Given the description of an element on the screen output the (x, y) to click on. 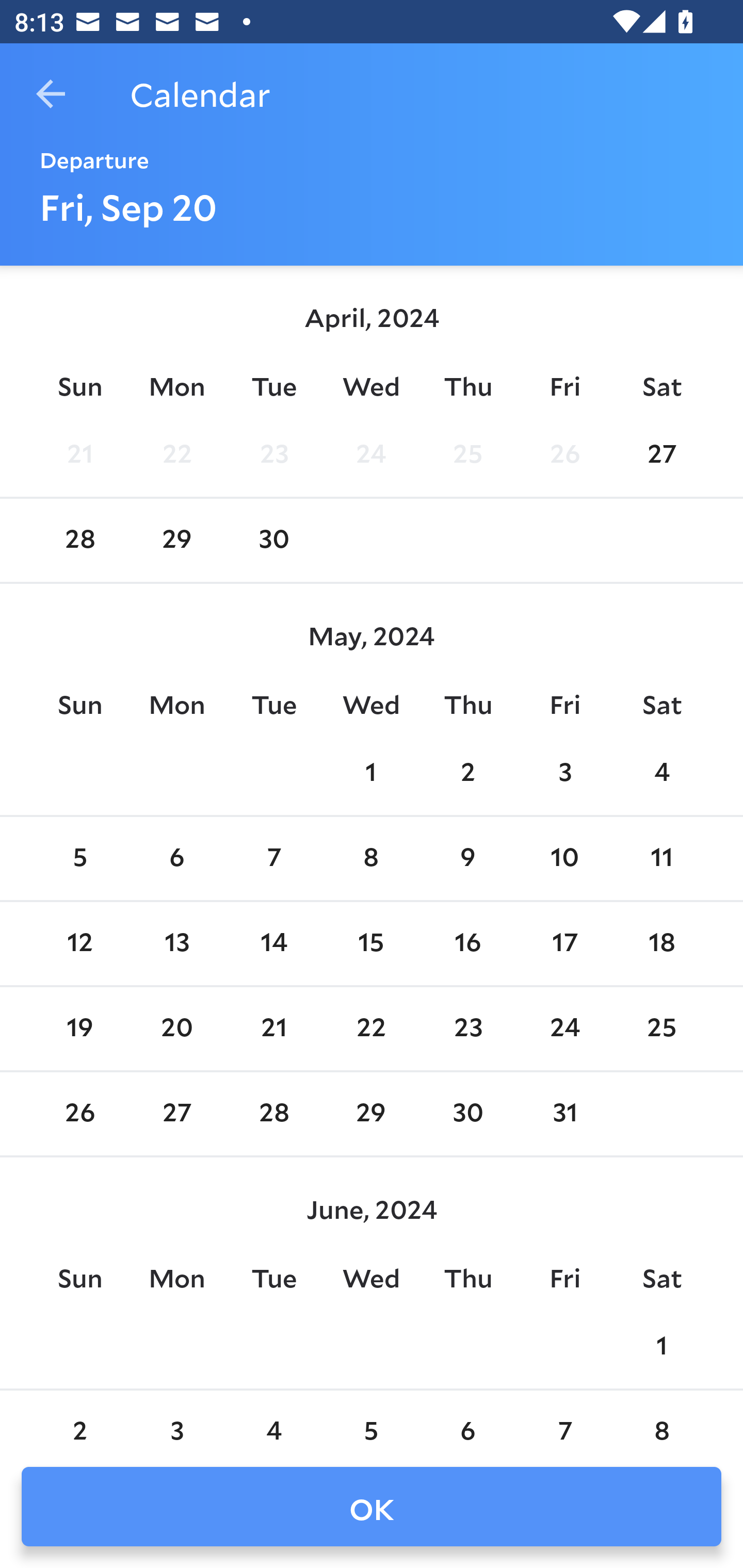
Navigate up (50, 93)
21 (79, 454)
22 (177, 454)
23 (273, 454)
24 (371, 454)
25 (467, 454)
26 (565, 454)
27 (661, 454)
28 (79, 540)
29 (177, 540)
30 (273, 540)
1 (371, 772)
2 (467, 772)
3 (565, 772)
4 (661, 772)
5 (79, 859)
6 (177, 859)
7 (273, 859)
8 (371, 859)
9 (467, 859)
10 (565, 859)
11 (661, 859)
12 (79, 943)
13 (177, 943)
14 (273, 943)
15 (371, 943)
16 (467, 943)
17 (565, 943)
18 (661, 943)
19 (79, 1028)
20 (177, 1028)
21 (273, 1028)
22 (371, 1028)
23 (467, 1028)
24 (565, 1028)
25 (661, 1028)
26 (79, 1114)
27 (177, 1114)
28 (273, 1114)
29 (371, 1114)
30 (467, 1114)
31 (565, 1114)
1 (661, 1346)
2 (79, 1420)
3 (177, 1420)
4 (273, 1420)
5 (371, 1420)
6 (467, 1420)
7 (565, 1420)
8 (661, 1420)
